Given the description of an element on the screen output the (x, y) to click on. 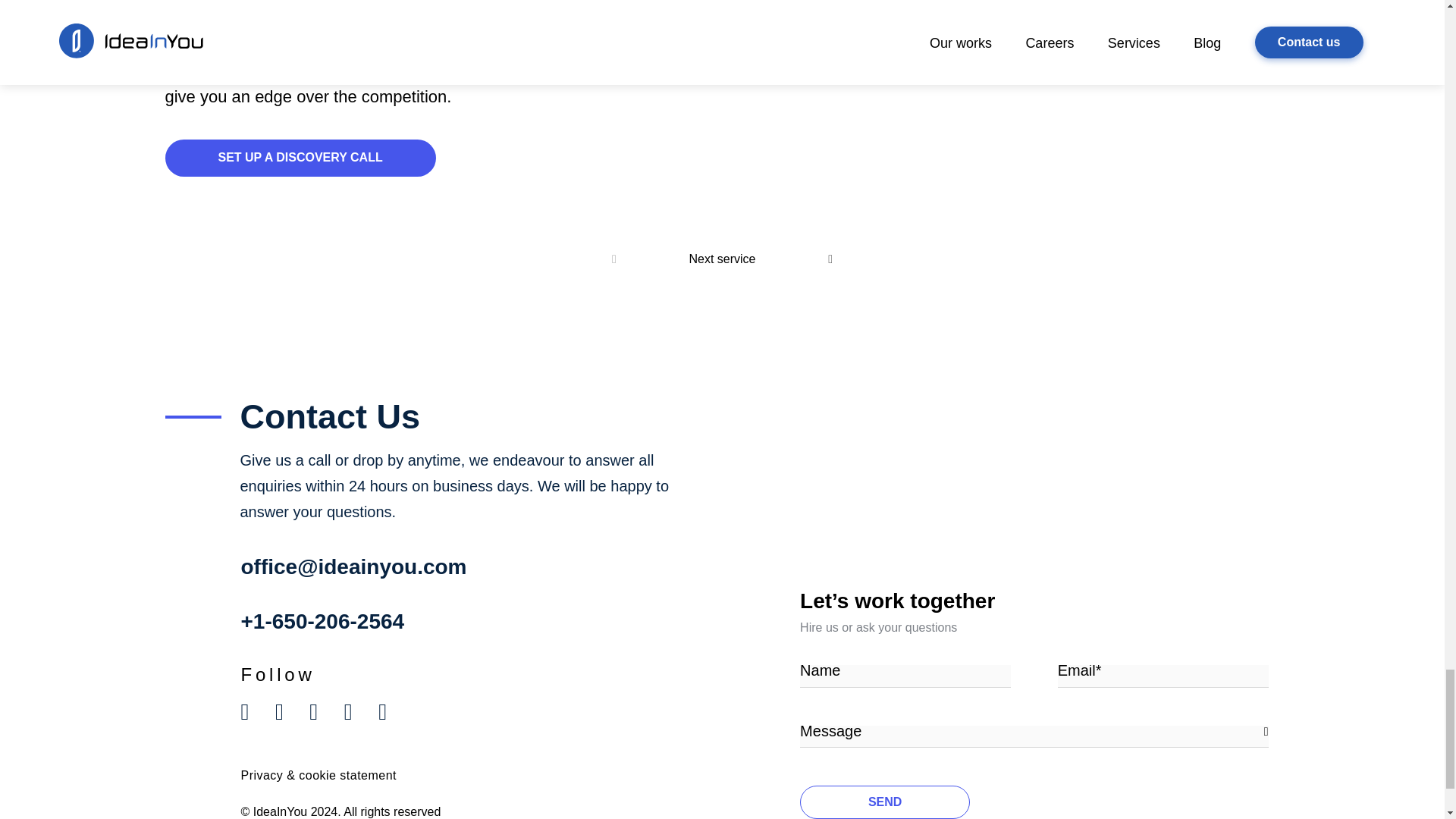
SET UP A DISCOVERY CALL (300, 157)
